Given the description of an element on the screen output the (x, y) to click on. 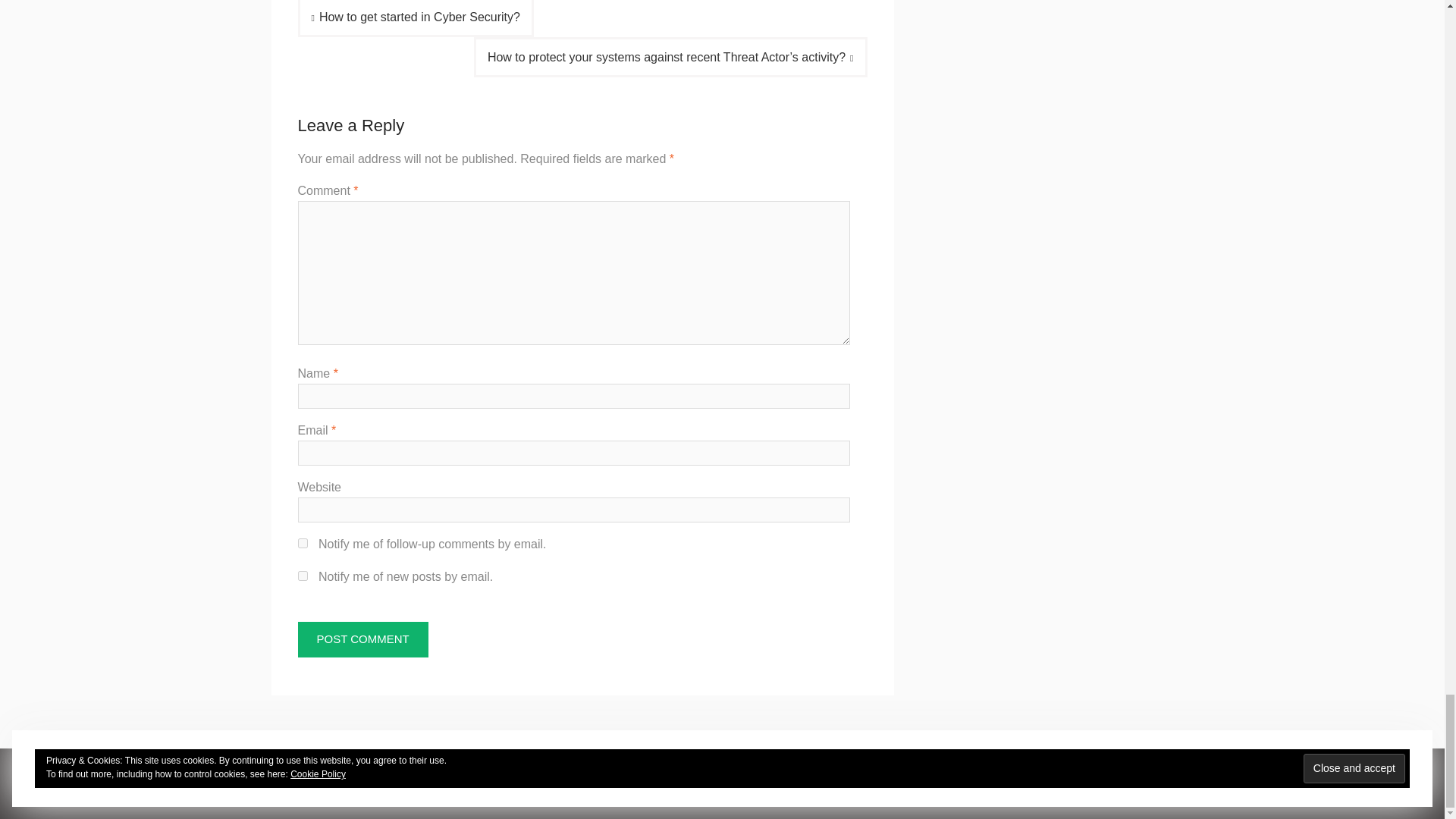
Post Comment (362, 639)
subscribe (302, 542)
subscribe (302, 575)
